Given the description of an element on the screen output the (x, y) to click on. 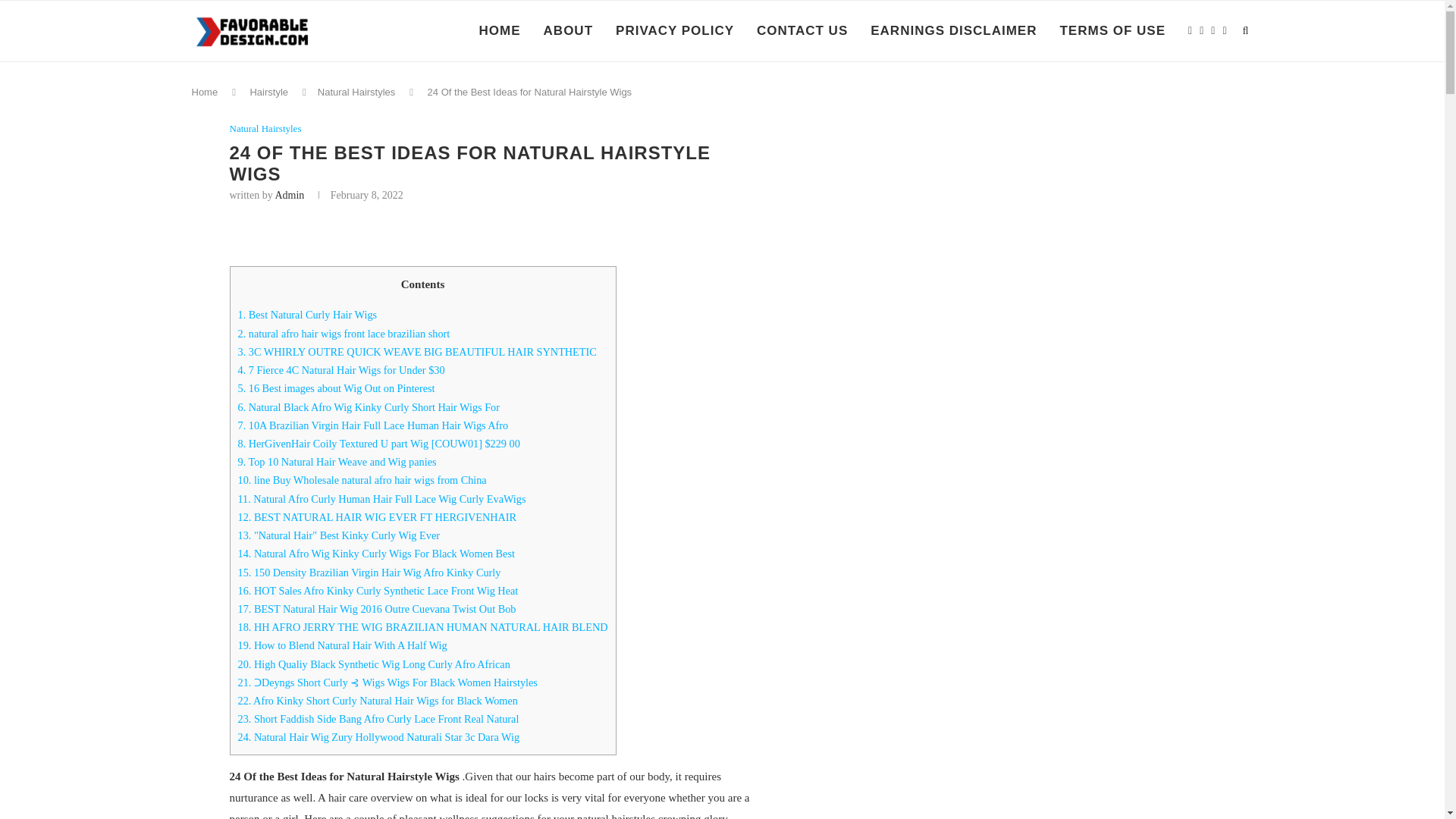
PRIVACY POLICY (674, 30)
Natural Hairstyles (356, 91)
Admin (289, 194)
2. natural afro hair wigs front lace brazilian short (343, 333)
CONTACT US (802, 30)
1. Best Natural Curly Hair Wigs (307, 314)
TERMS OF USE (1112, 30)
Home (203, 91)
7. 10A Brazilian Virgin Hair Full Lace Human Hair Wigs Afro (373, 425)
3. 3C WHIRLY OUTRE QUICK WEAVE BIG BEAUTIFUL HAIR SYNTHETIC (417, 351)
